Given the description of an element on the screen output the (x, y) to click on. 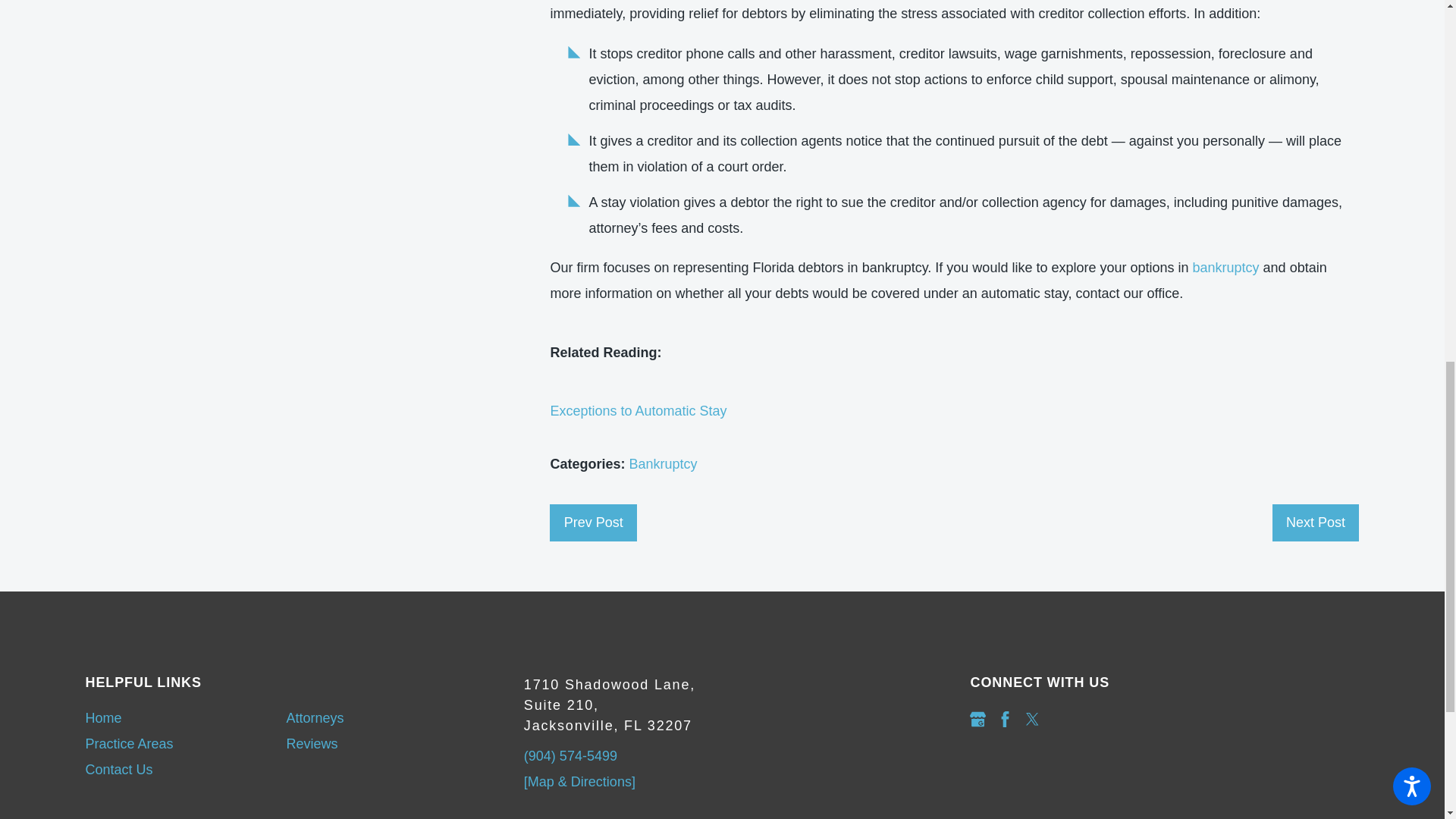
Google Business Profile (977, 719)
Facebook (1005, 719)
Twitter (1033, 719)
